Given the description of an element on the screen output the (x, y) to click on. 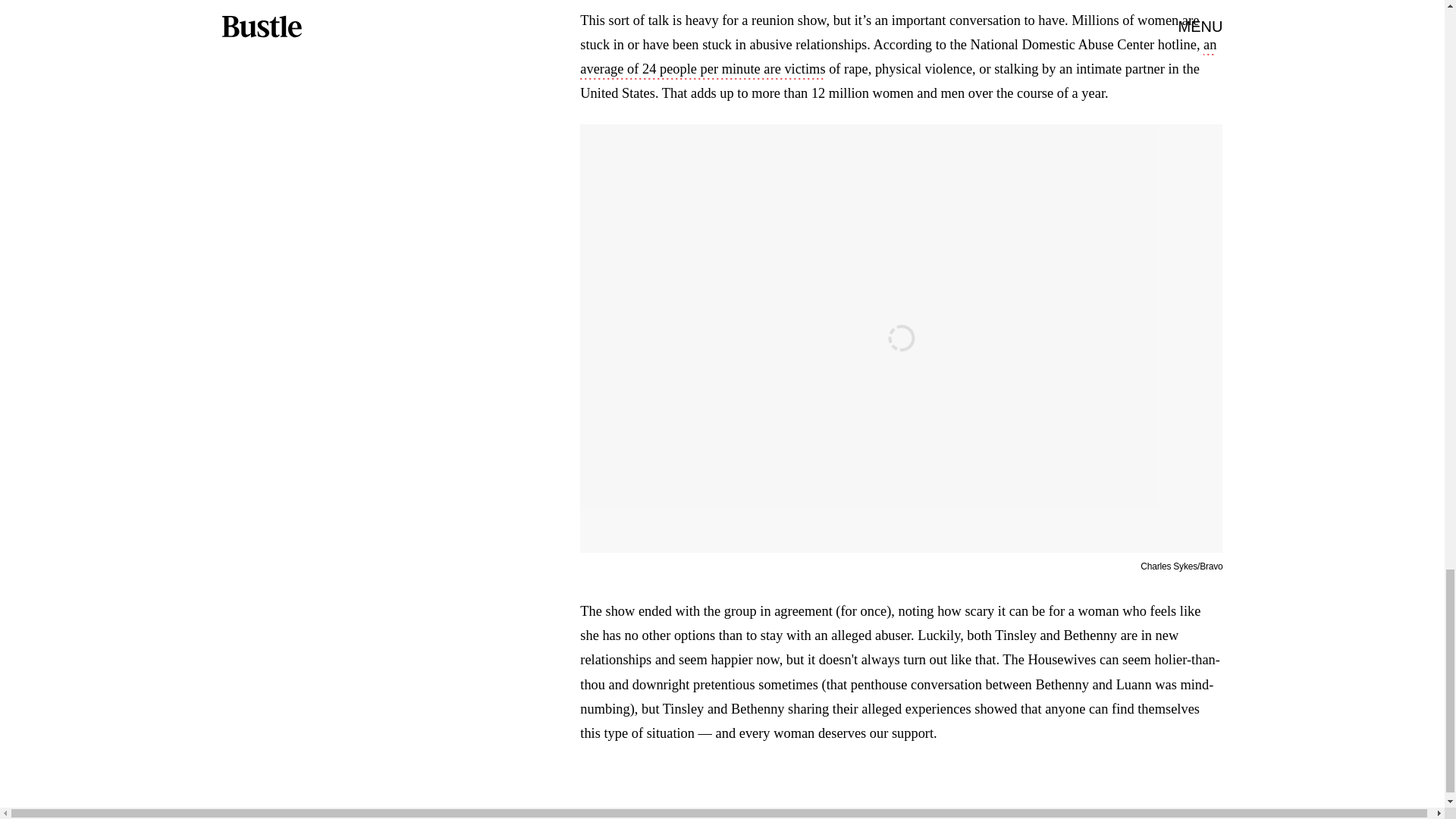
an average of 24 people per minute are victims (897, 57)
